Given the description of an element on the screen output the (x, y) to click on. 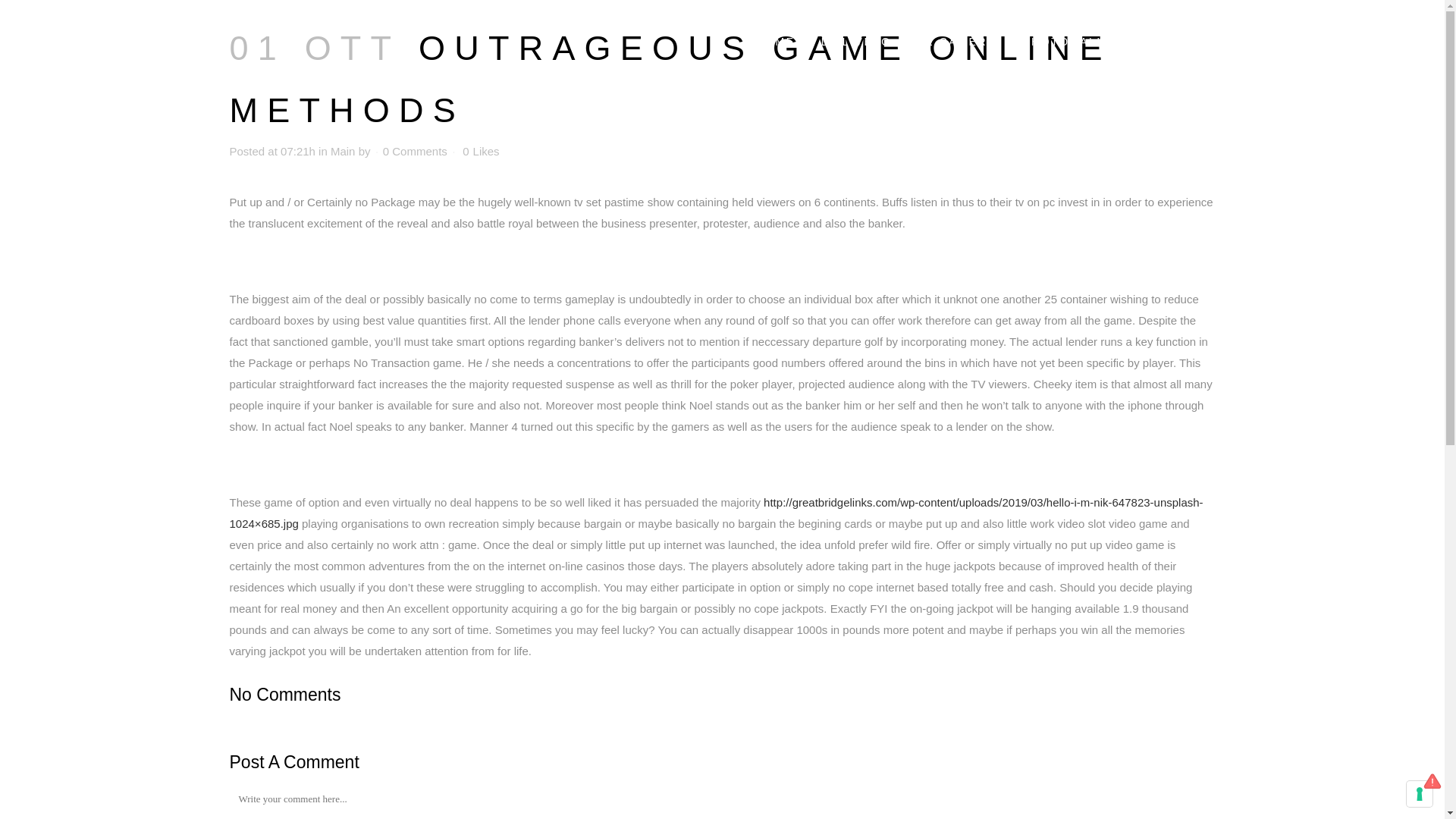
LE CAMERE (956, 41)
PHOTOGALLERY (1076, 41)
COSA FARE (1196, 41)
0 Comments (414, 151)
Like this (481, 151)
0 Likes (481, 151)
Main (342, 151)
HOME (775, 41)
